Given the description of an element on the screen output the (x, y) to click on. 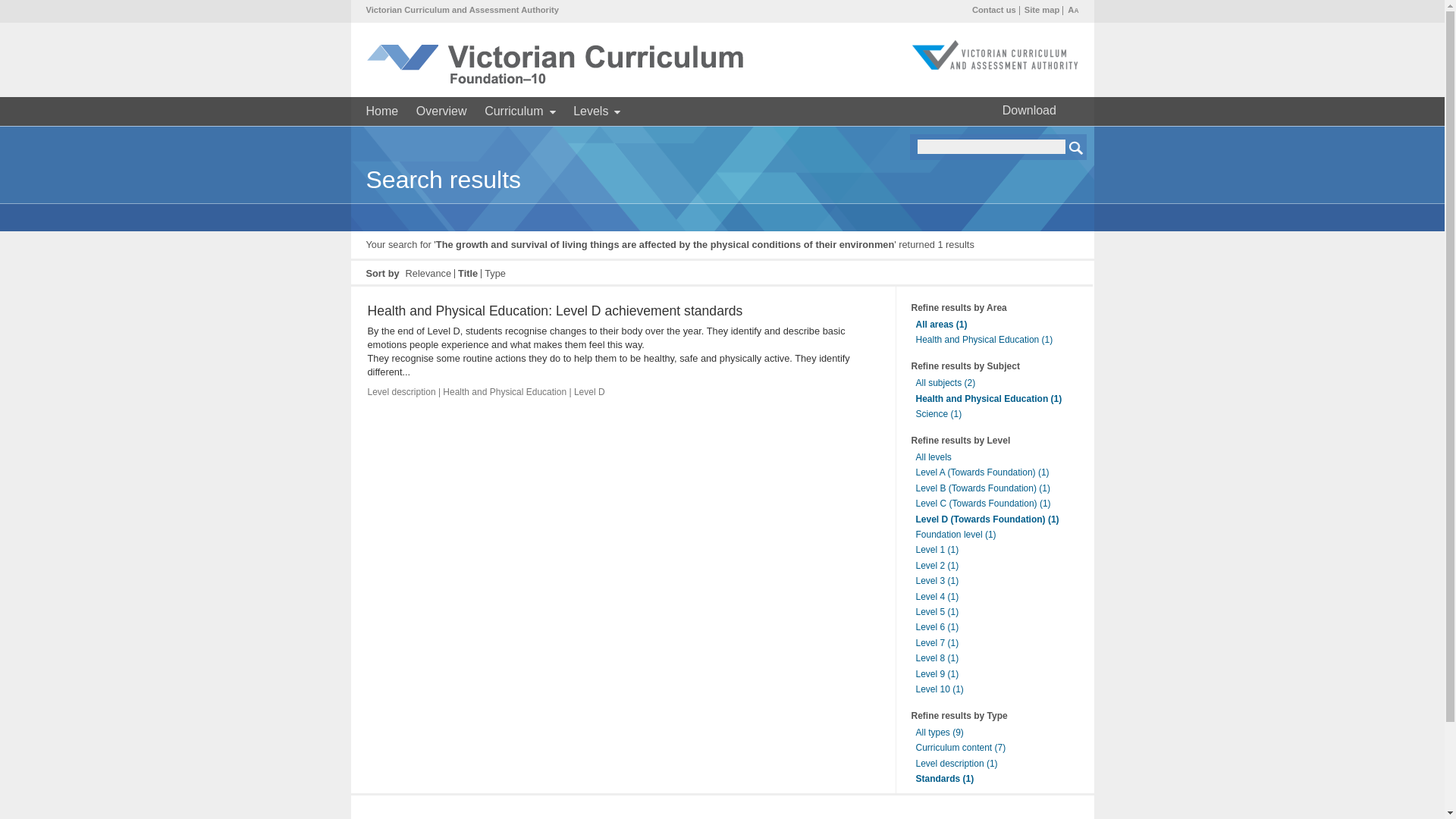
Link will open in a new window (994, 67)
Link will open in a new window (461, 9)
Victorian Curriculum and Assessment Authority (461, 9)
Search criteria (991, 146)
Sort the results by relevance (428, 272)
Sort the results by title (467, 272)
AA (1072, 9)
Home (381, 110)
Overview (441, 110)
Site map (1042, 9)
Contact us (994, 9)
Toggle the font size larger and smaller (1072, 9)
Sort the results by curriculum element type (494, 272)
Curriculum (519, 110)
Search (1077, 146)
